Given the description of an element on the screen output the (x, y) to click on. 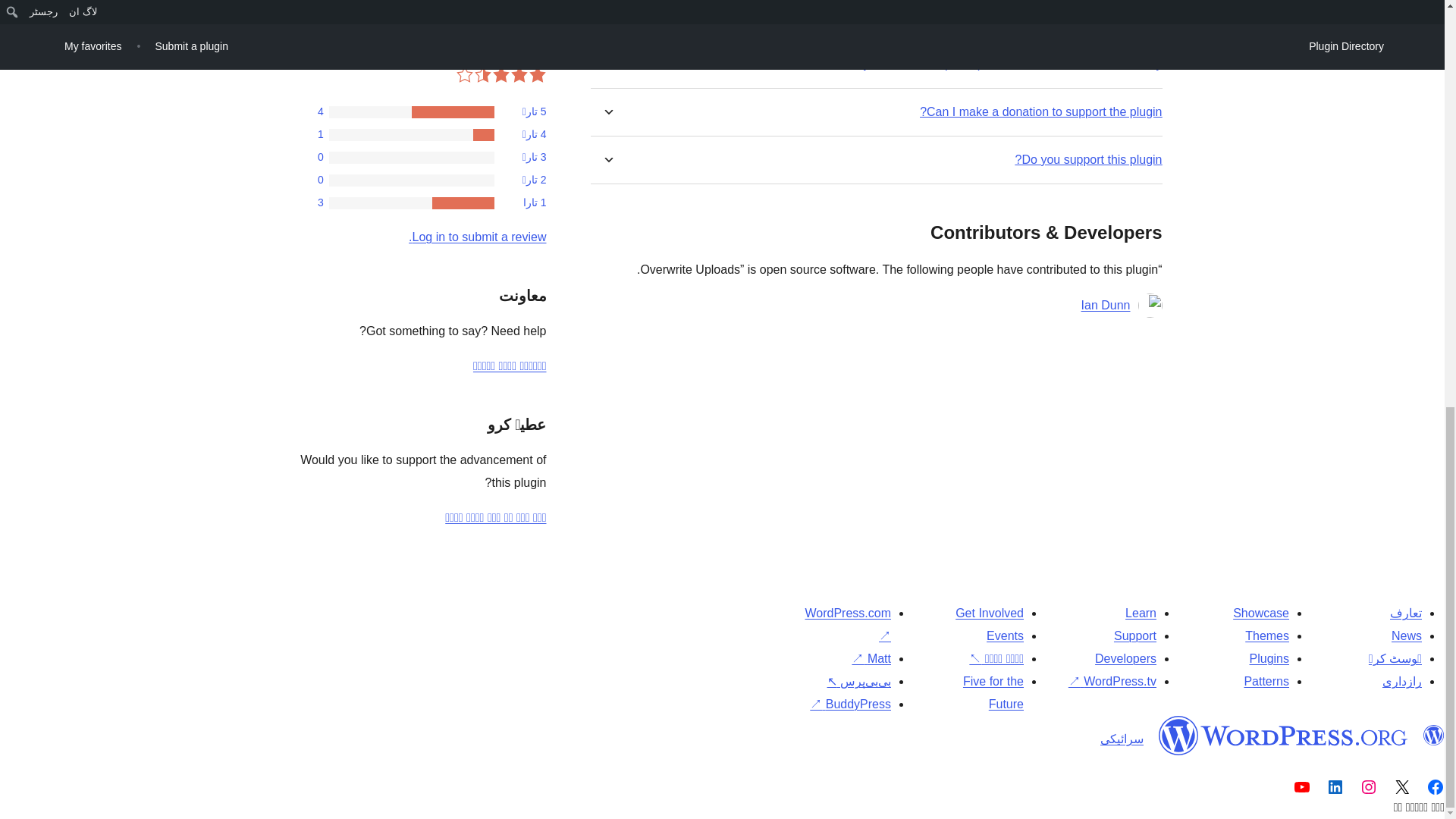
WordPress.org (1282, 735)
Log in to WordPress.org (477, 236)
Do you support this plugin? (1087, 159)
Can I make a donation to support the plugin? (1040, 111)
